Given the description of an element on the screen output the (x, y) to click on. 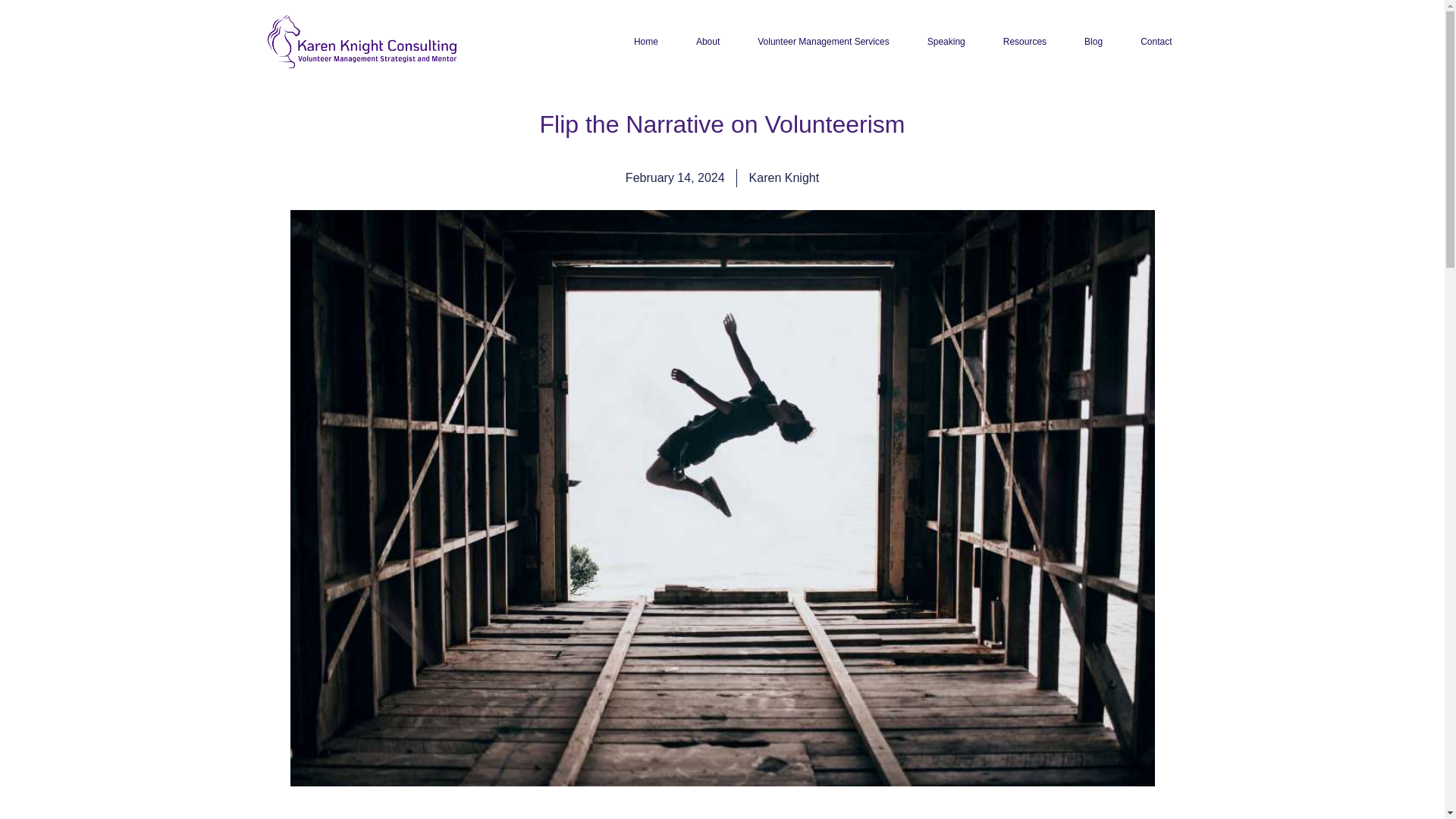
About (707, 41)
Resources (1024, 41)
Volunteer Management Services (822, 41)
Blog (1093, 41)
Speaking (946, 41)
Home (645, 41)
Contact (1155, 41)
Karen Knight (784, 177)
February 14, 2024 (675, 177)
